Given the description of an element on the screen output the (x, y) to click on. 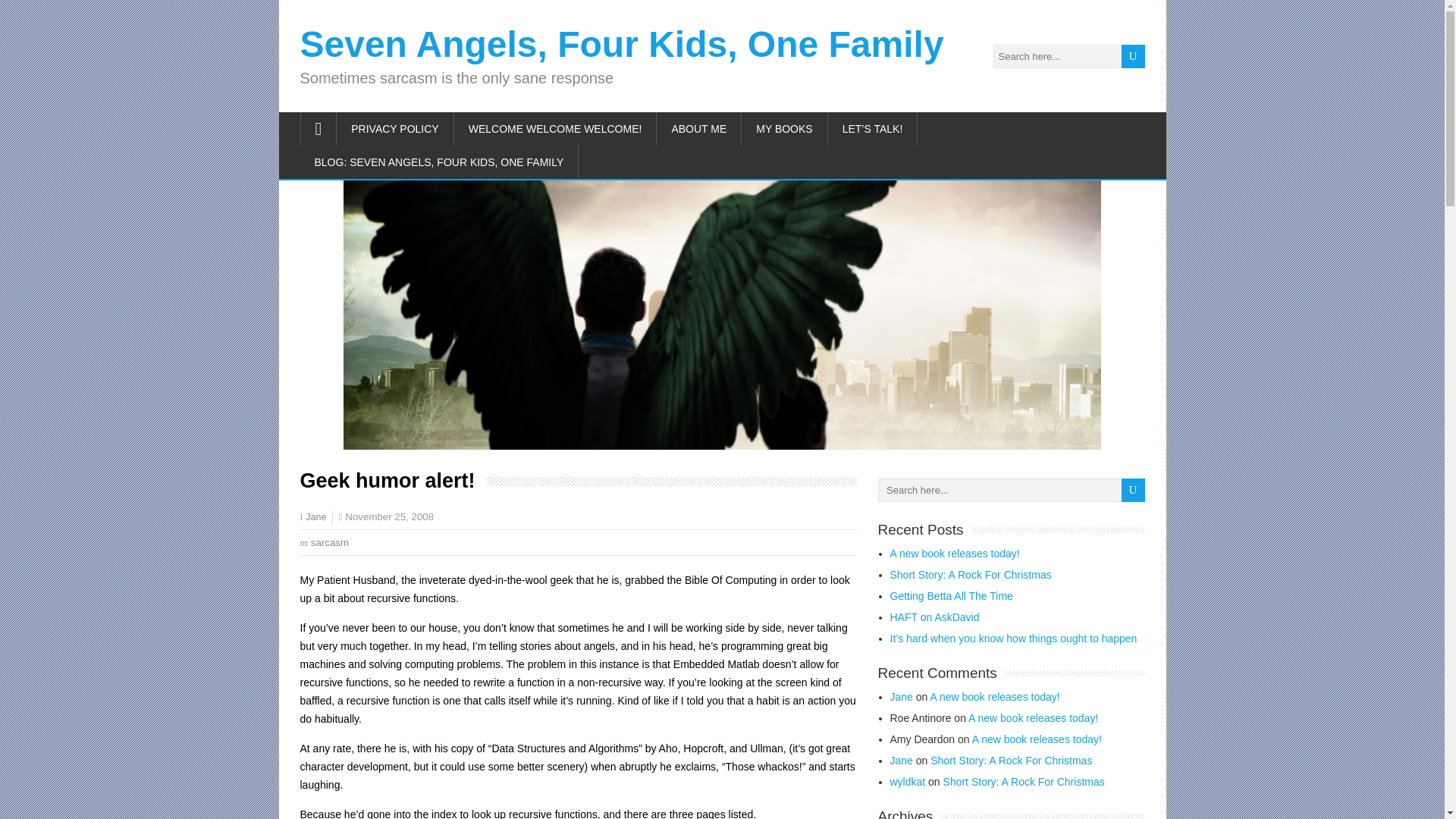
BLOG: SEVEN ANGELS, FOUR KIDS, ONE FAMILY (439, 162)
WELCOME WELCOME WELCOME! (556, 128)
U (1132, 490)
Jane (315, 516)
A new book releases today! (954, 553)
U (1132, 490)
MY BOOKS (784, 128)
PRIVACY POLICY (394, 128)
Getting Betta All The Time (951, 595)
U (1132, 56)
ABOUT ME (698, 128)
U (1132, 490)
U (1132, 56)
sarcasm (330, 542)
Short Story: A Rock For Christmas (970, 574)
